Given the description of an element on the screen output the (x, y) to click on. 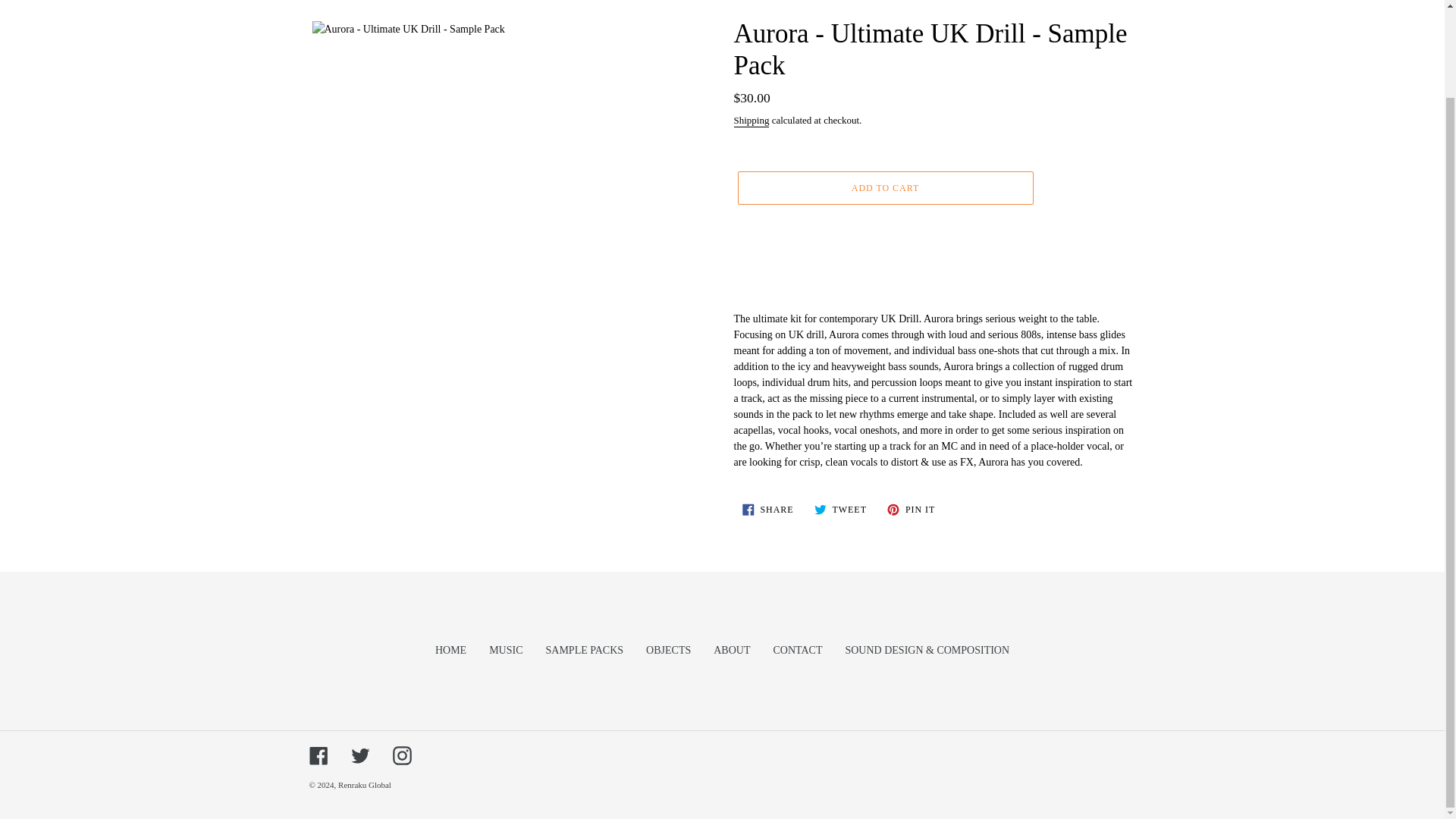
Twitter (359, 755)
Shipping (767, 509)
SAMPLE PACKS (751, 120)
Facebook (585, 650)
Instagram (318, 755)
CONTACT (402, 755)
HOME (797, 650)
ADD TO CART (911, 509)
MUSIC (450, 650)
OBJECTS (884, 187)
ABOUT (505, 650)
